Given the description of an element on the screen output the (x, y) to click on. 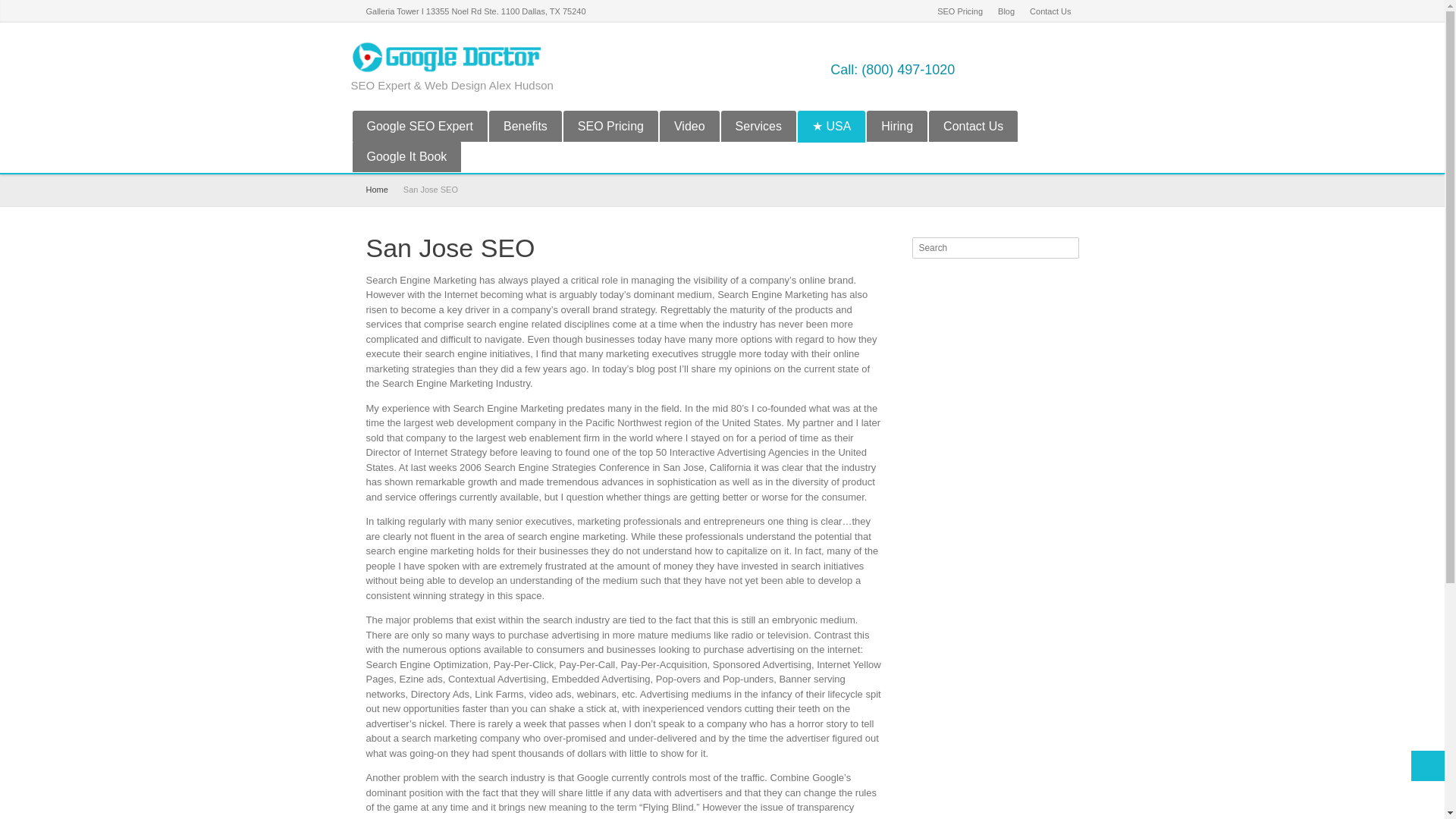
Google SEO Expert (419, 126)
Video (689, 126)
Benefits (525, 126)
E-mail (1084, 69)
Contact Us (1050, 11)
Facebook (985, 69)
SEO Pricing (610, 126)
SEO Pricing (960, 11)
Services (758, 126)
RSS (1059, 69)
